Given the description of an element on the screen output the (x, y) to click on. 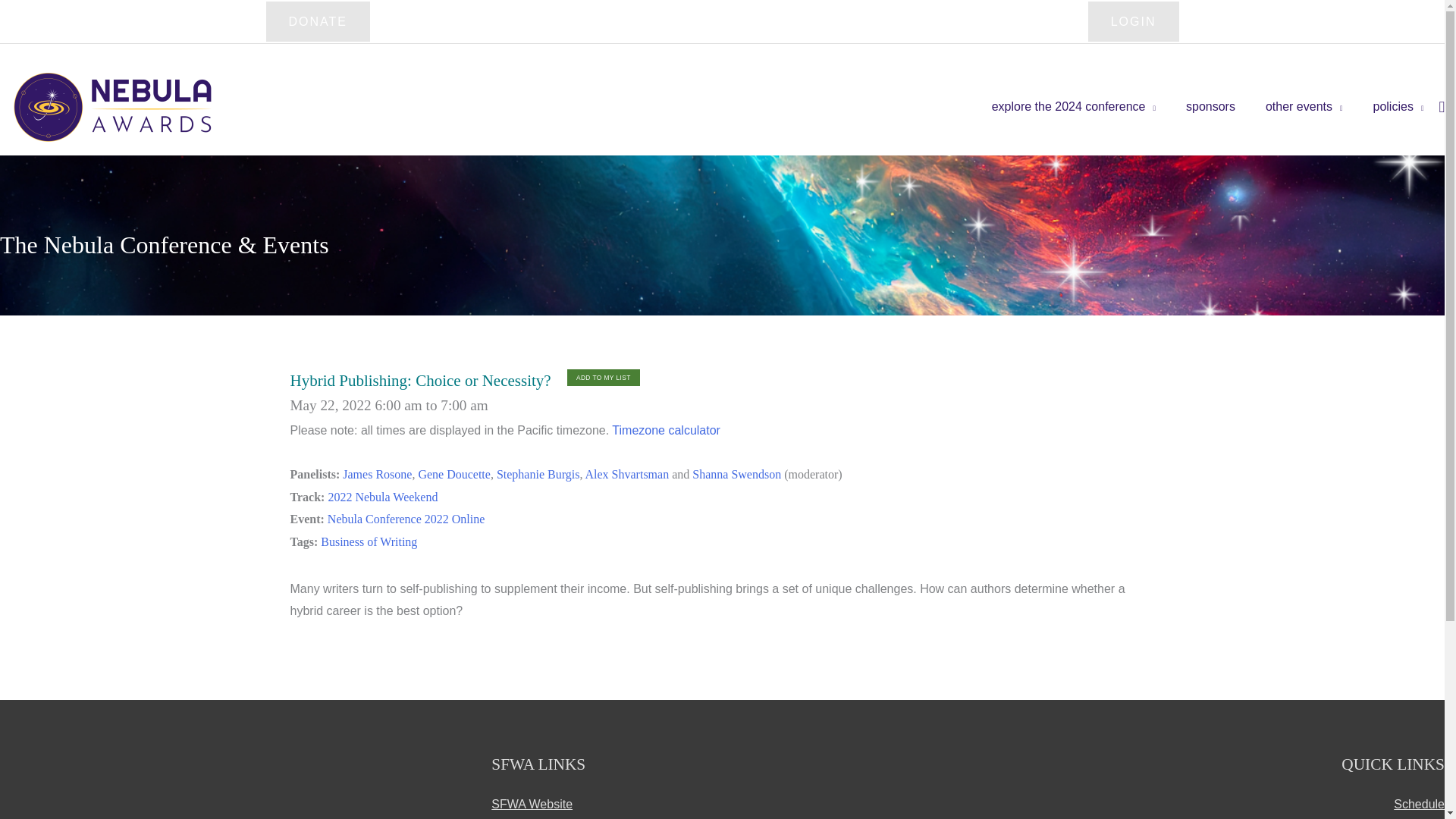
Shanna Swendson (736, 473)
Stephanie Burgis (537, 473)
explore the 2024 conference (1073, 106)
other events (1304, 106)
Business of Writing (368, 541)
ADD TO MY LIST (603, 377)
2022 Nebula Weekend (382, 496)
LOGIN (1133, 21)
Nebula Conference 2022 Online (405, 518)
DONATE (316, 21)
